Given the description of an element on the screen output the (x, y) to click on. 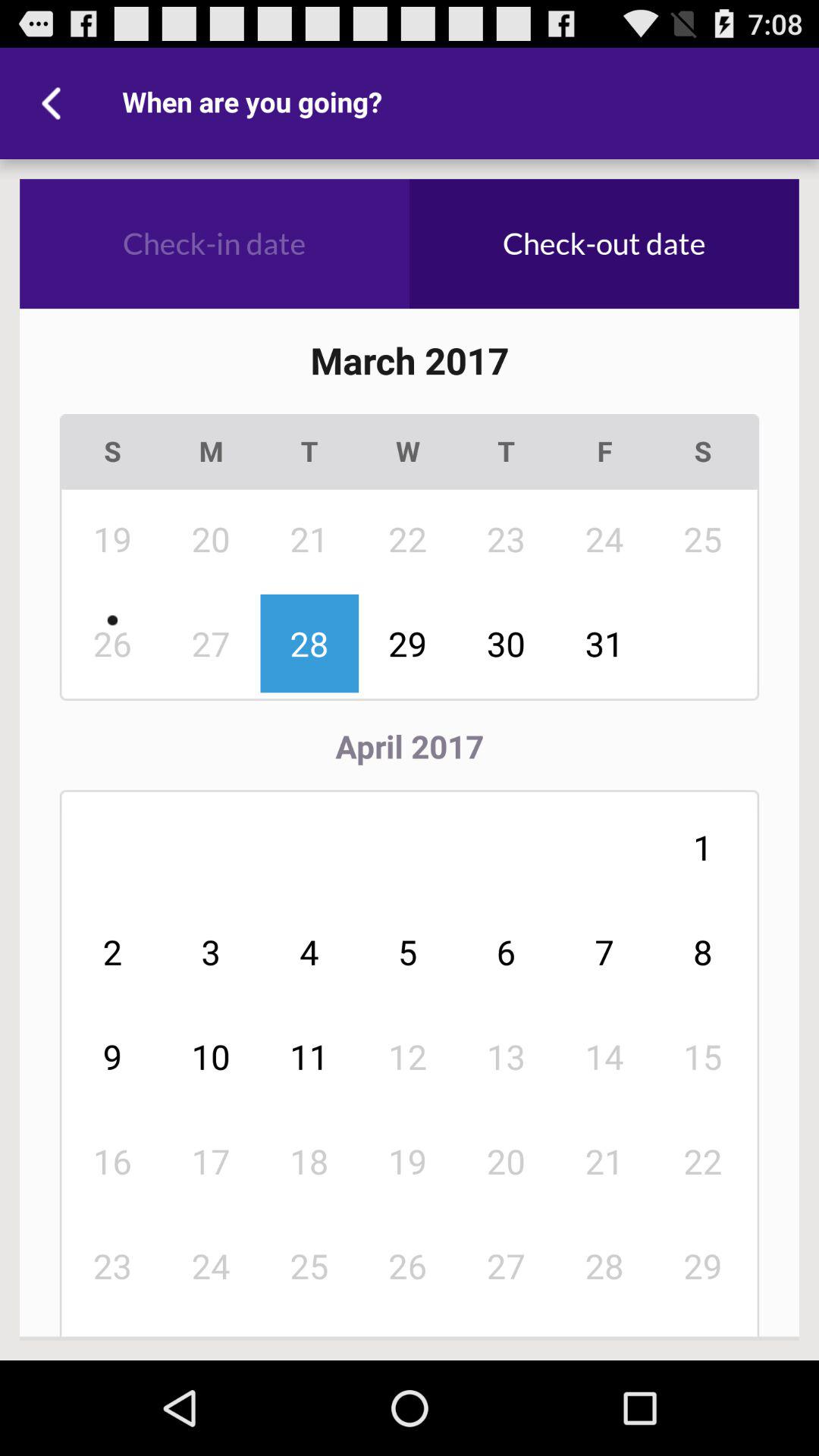
choose item to the left of when are you item (55, 103)
